Given the description of an element on the screen output the (x, y) to click on. 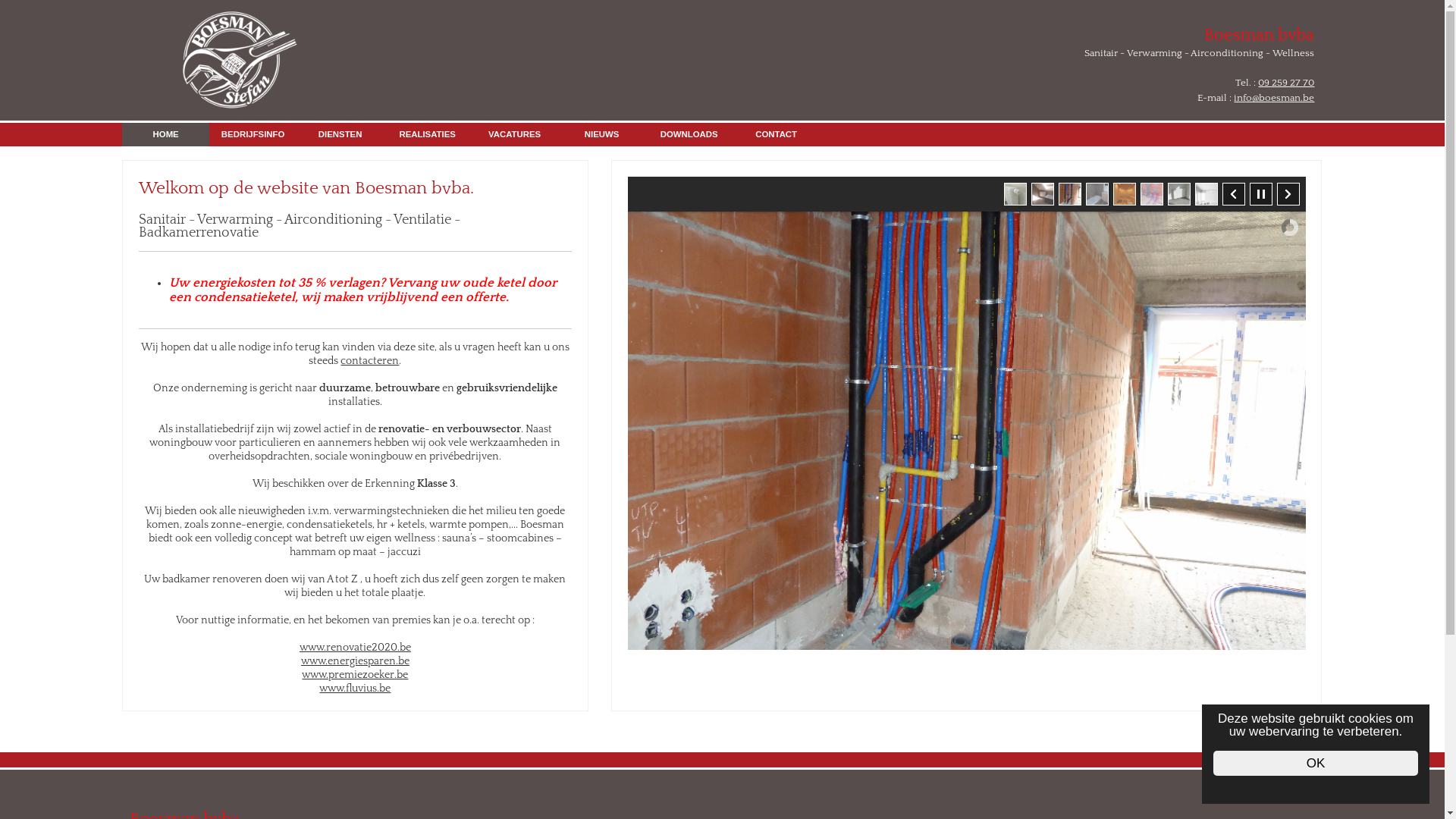
HOME Element type: text (165, 134)
DIENSTEN Element type: text (339, 134)
CONTACT Element type: text (775, 134)
www.premiezoeker.be Element type: text (354, 674)
OK Element type: text (1315, 762)
DOWNLOADS Element type: text (688, 134)
info@boesman.be Element type: text (1273, 97)
REALISATIES Element type: text (426, 134)
www.renovatie2020.be Element type: text (355, 647)
NIEUWS Element type: text (601, 134)
www.energiesparen.be Element type: text (355, 661)
09 259 27 70 Element type: text (1286, 82)
BEDRIJFSINFO Element type: text (252, 134)
contacteren Element type: text (369, 360)
VACATURES Element type: text (514, 134)
www.fluvius.be Element type: text (354, 688)
